Given the description of an element on the screen output the (x, y) to click on. 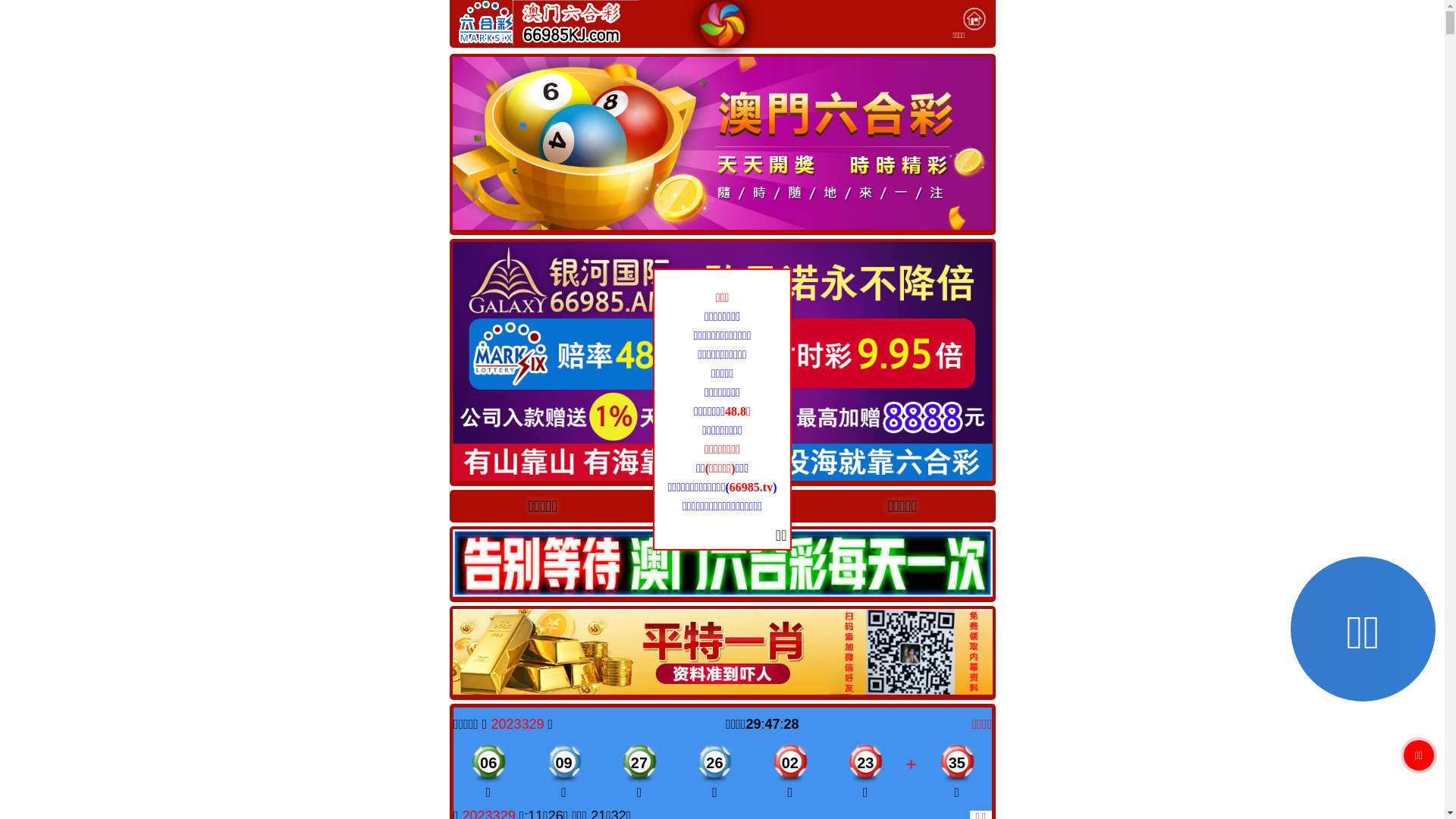
yhgj663.com Element type: text (721, 504)
